Given the description of an element on the screen output the (x, y) to click on. 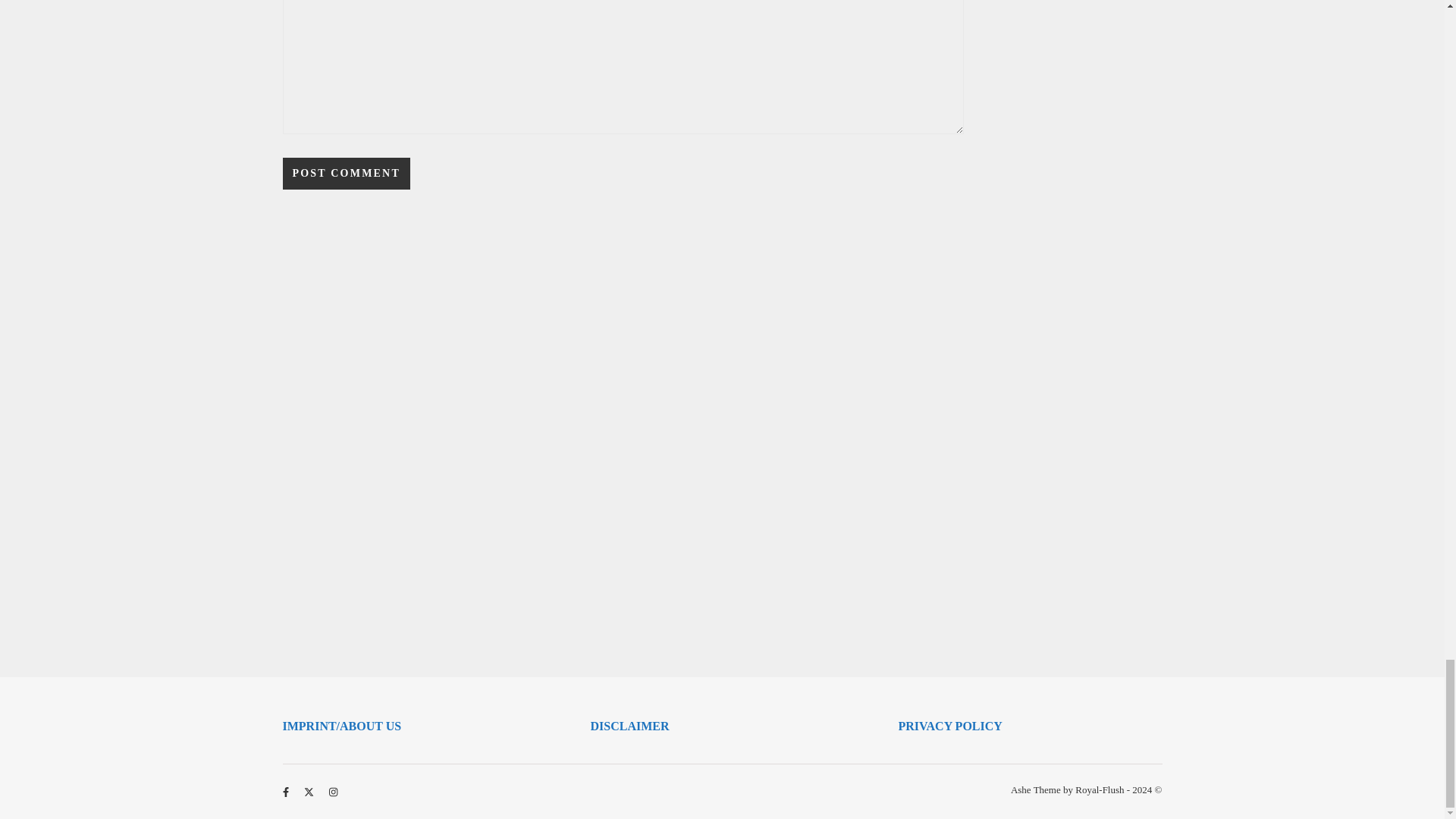
Post Comment (345, 173)
